Given the description of an element on the screen output the (x, y) to click on. 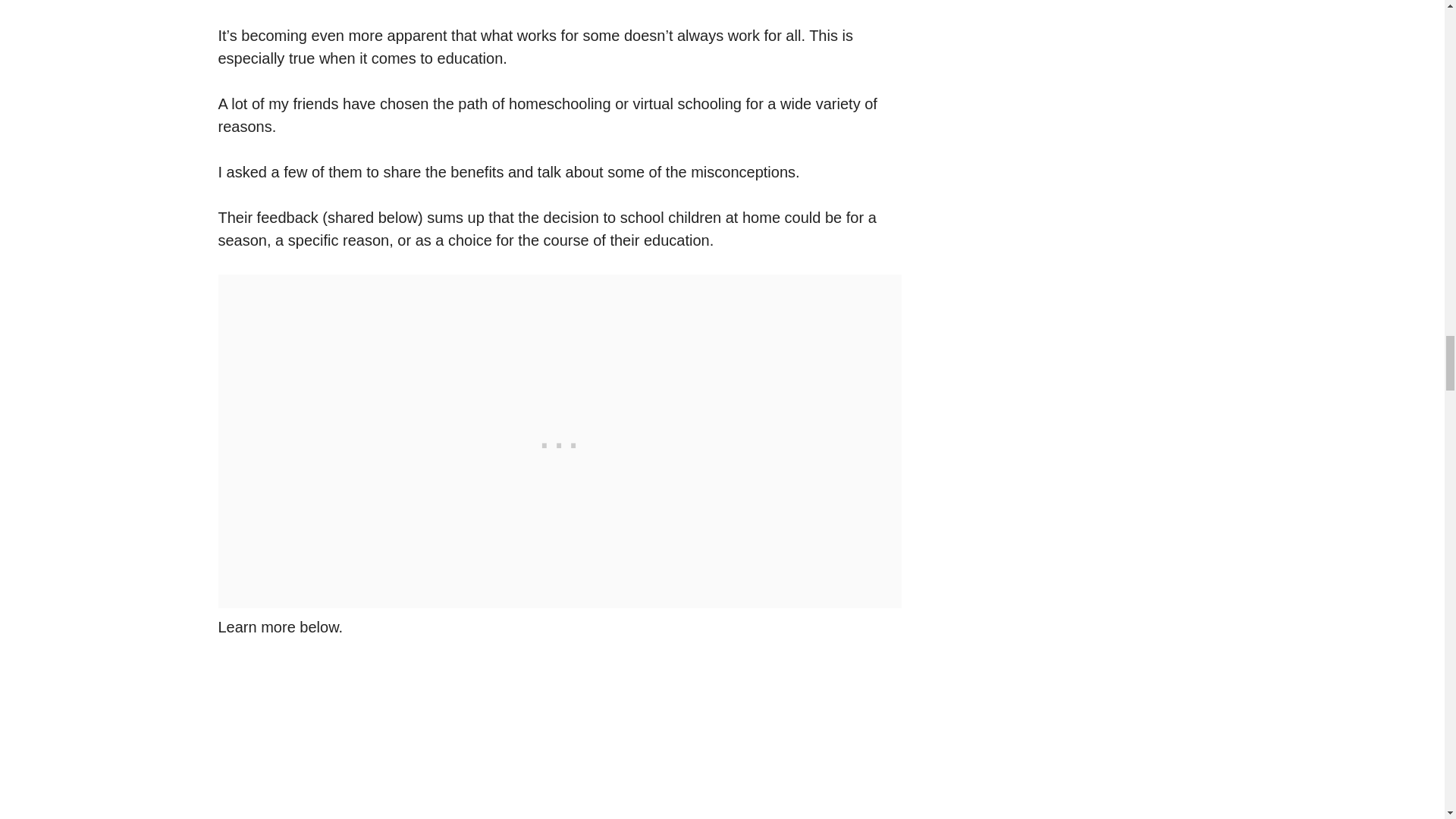
flexible schedule with homeschooling  (559, 739)
